Given the description of an element on the screen output the (x, y) to click on. 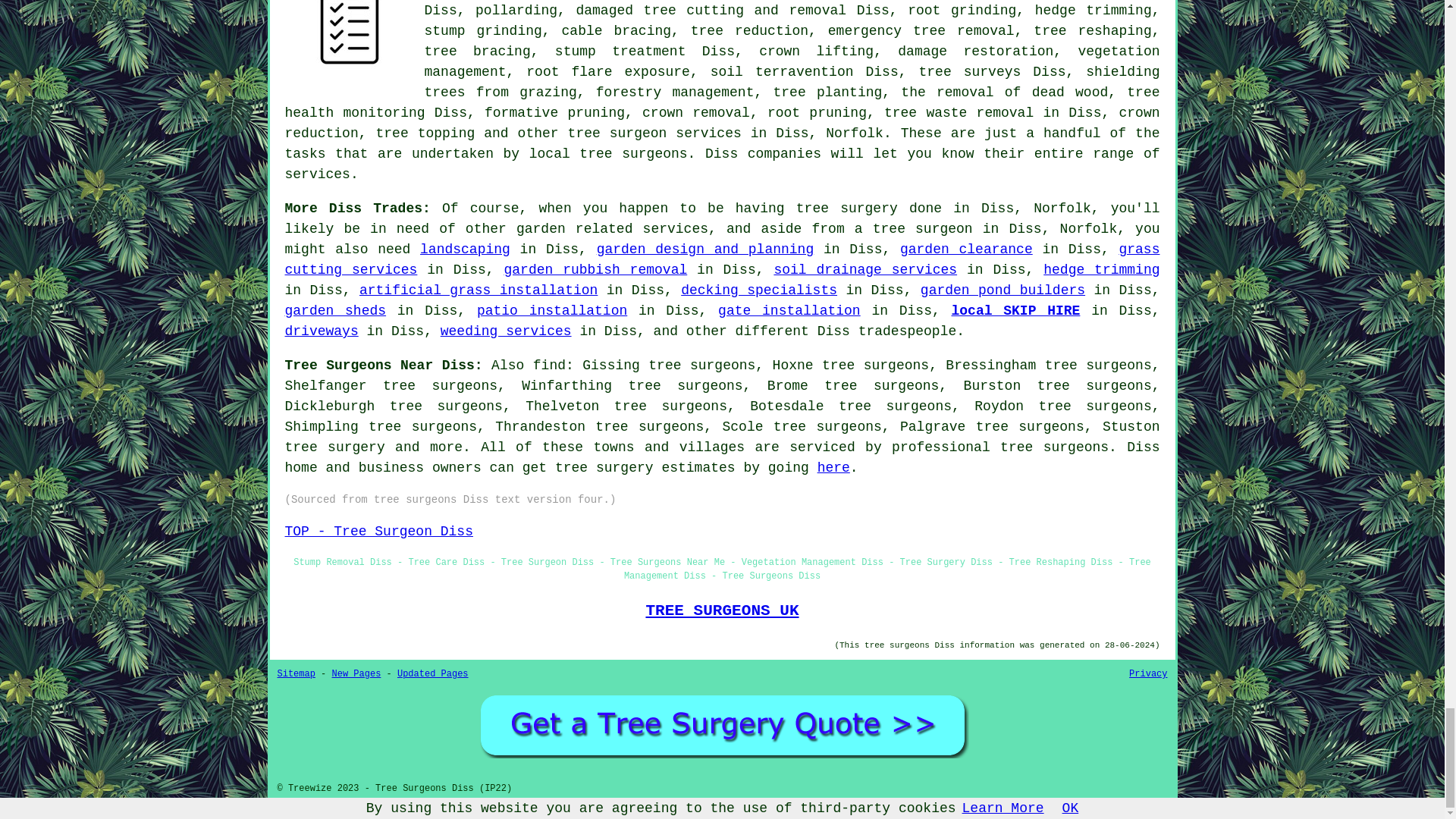
tree surveys (970, 71)
stump grinding (483, 30)
Tree Surgery Tasks Diss UK (349, 44)
crown reduction (722, 122)
tree topping (424, 133)
